Given the description of an element on the screen output the (x, y) to click on. 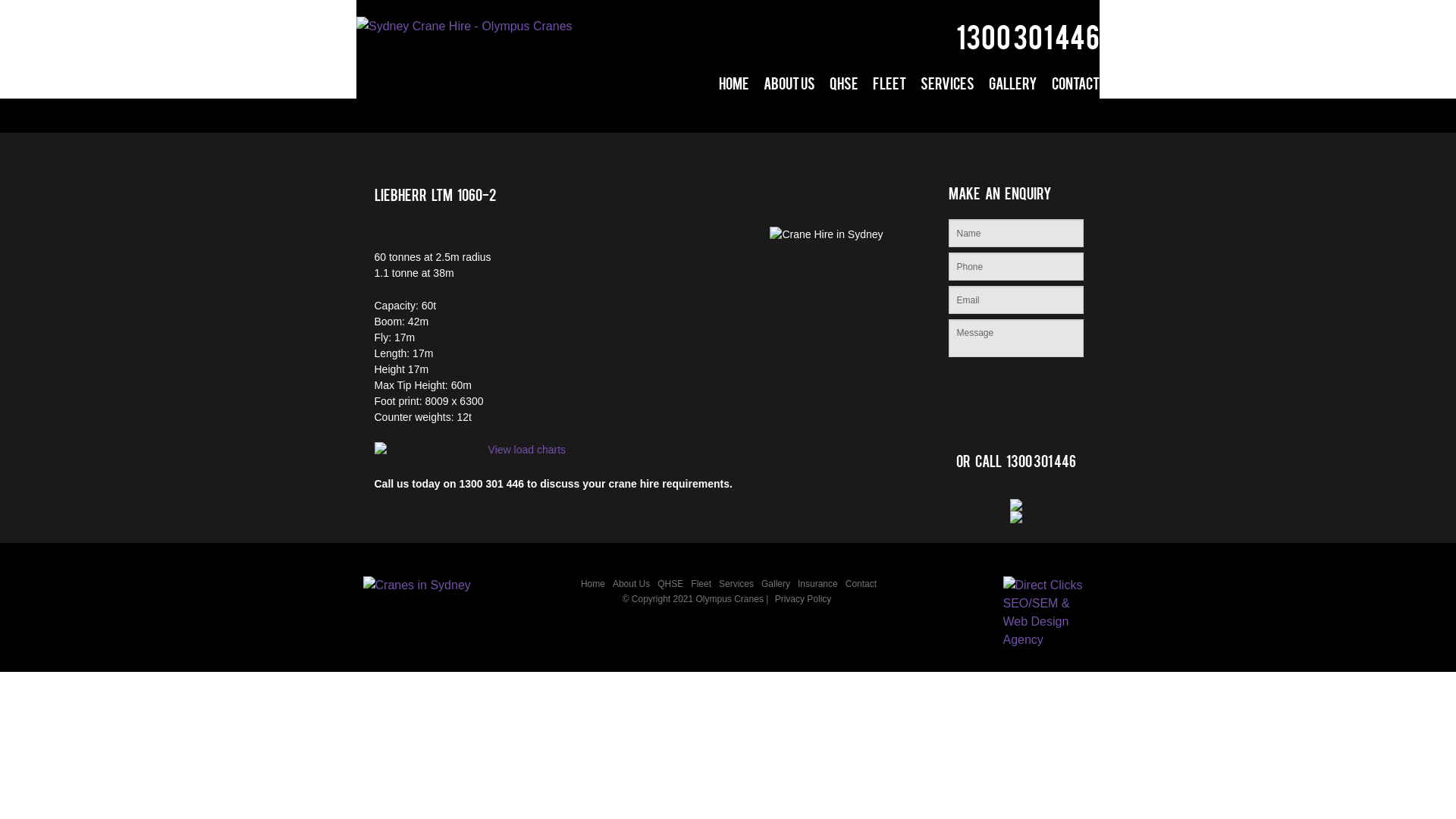
Steel Erection Element type: text (901, 161)
QHSE Element type: text (670, 583)
Services Element type: text (947, 87)
Liebherr   LTM 1040-2.1 Element type: text (843, 229)
About Us Element type: text (789, 87)
1300 301 446 Element type: text (491, 483)
QHSE Element type: text (843, 87)
1300 301 446 Element type: text (1040, 464)
Phone Element type: text (1014, 266)
Contact Element type: text (860, 583)
About Us Element type: text (630, 583)
View load charts Element type: text (526, 449)
Contact Element type: text (1075, 87)
Email Element type: text (1014, 299)
Franna   AT15 Element type: text (843, 126)
Services Element type: text (736, 583)
Gallery Element type: text (1012, 87)
Tadano   TR200M-4 Element type: text (843, 195)
Frames & Trusses Element type: text (901, 195)
1300 301 446 Element type: text (1027, 44)
Home Element type: text (592, 583)
Machinery Removal Element type: text (901, 229)
Air Conditioning Lifts Element type: text (901, 126)
Direct Clicks SEO/SEM & Web Design Agency Element type: hover (1047, 611)
Franna   AT20 Element type: text (843, 161)
Sydney Crane Hire - Olympus Cranes Element type: hover (464, 24)
Cranes in Sydney Element type: hover (417, 589)
Home Element type: text (733, 87)
Fleet Element type: text (701, 583)
Message Element type: text (1014, 338)
Privacy Policy Element type: text (803, 598)
Fleet Element type: text (889, 87)
Gallery Element type: text (775, 583)
Name Element type: text (1014, 233)
Insurance Element type: text (817, 583)
